Given the description of an element on the screen output the (x, y) to click on. 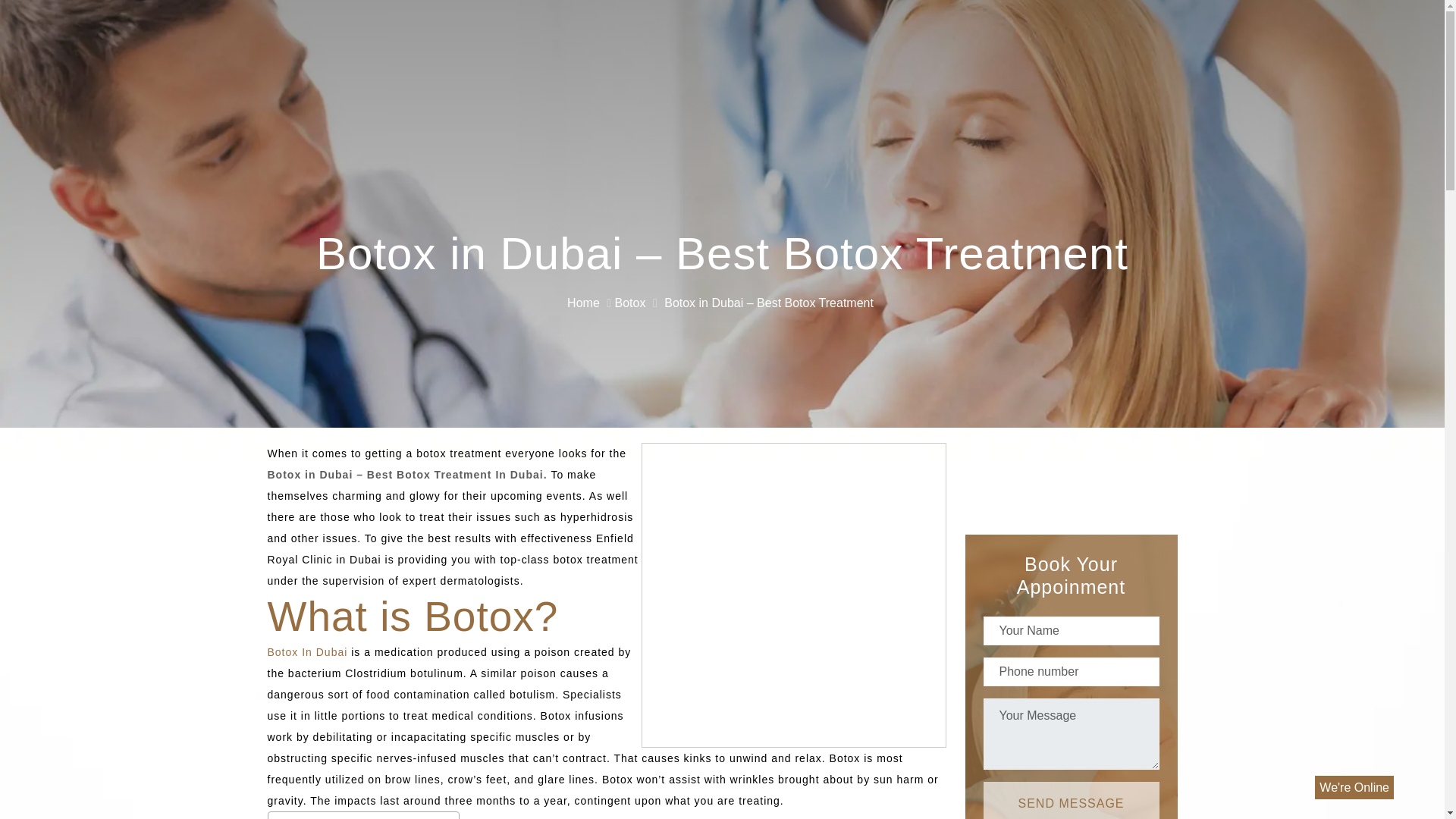
Send message (1070, 800)
